Given the description of an element on the screen output the (x, y) to click on. 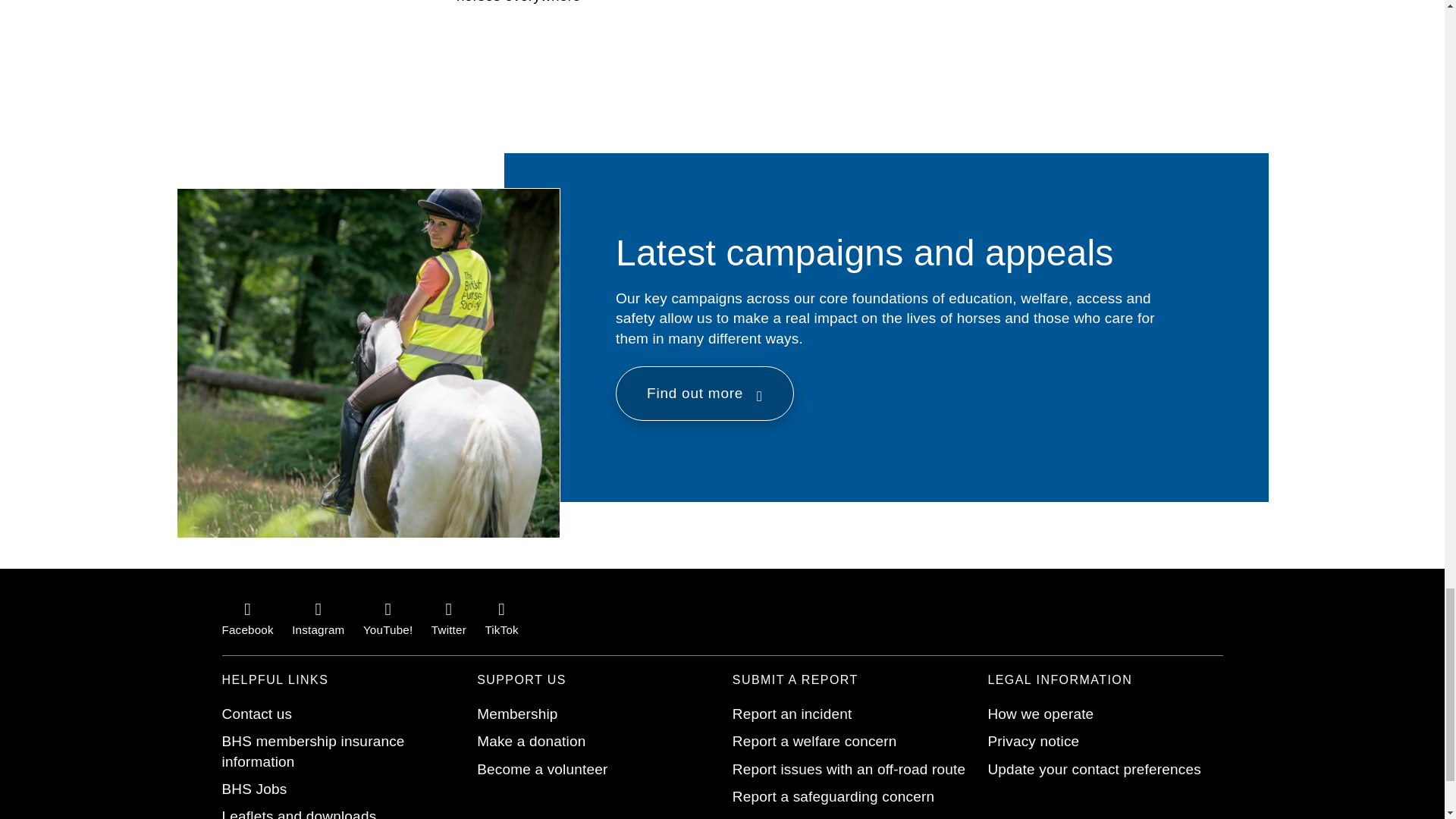
The BHS Facebook profile (247, 617)
The BHS instagram profile (317, 617)
The BHS Youtube profile (387, 617)
